Given the description of an element on the screen output the (x, y) to click on. 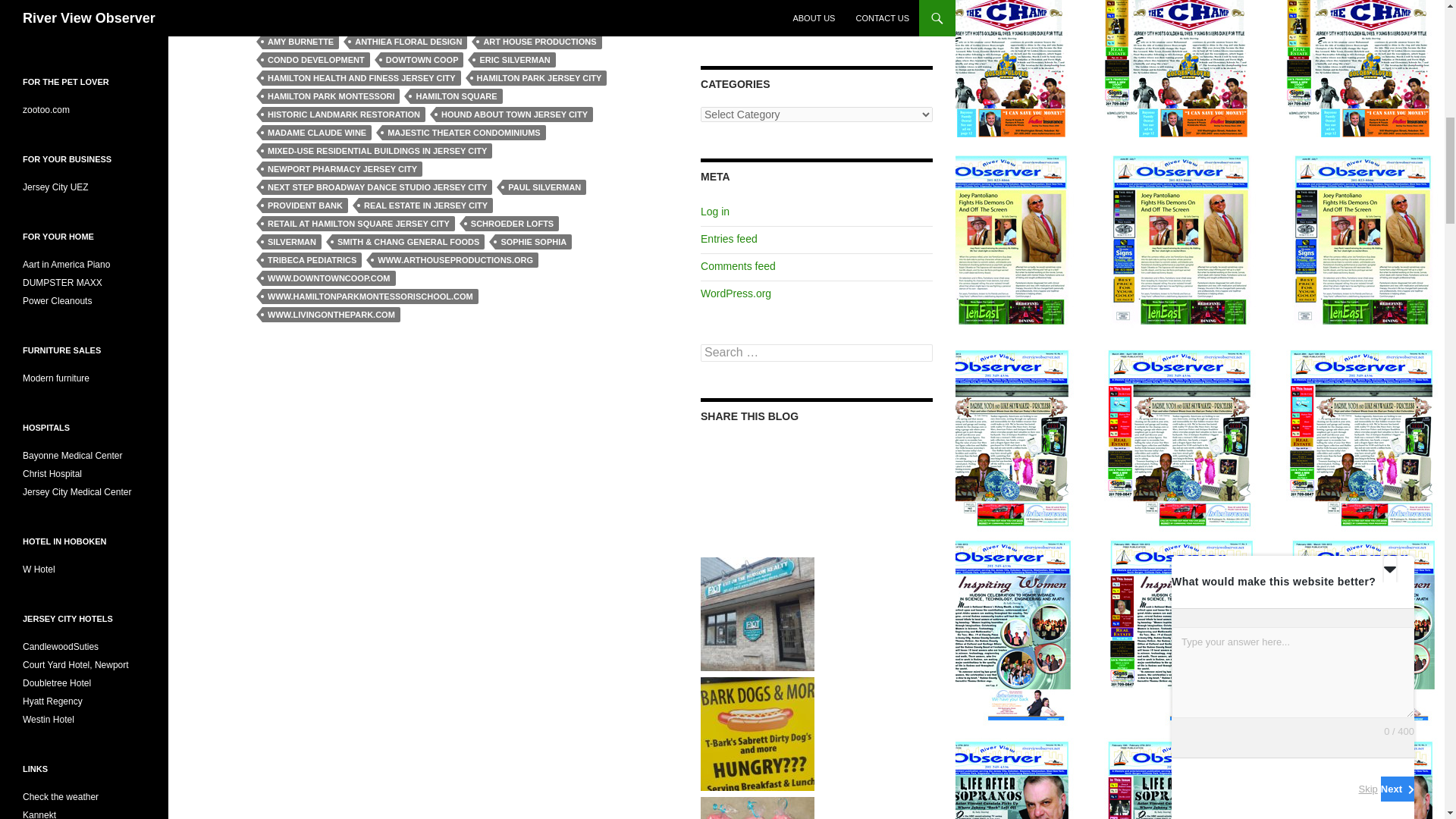
ANTHIEA FLORAL DESIGN (408, 41)
Exit On the Hudson Realty (756, 612)
AMY BURNETTE (300, 41)
Share (360, 1)
ERIC SILVERMAN (514, 59)
HISTORIC LANDMARK RESTORATION (343, 114)
Email (330, 1)
T-Barks Foods and more (756, 732)
Facebook (269, 1)
ART HOUSE PRODUCTIONS (539, 41)
CONDO DEVELOPMENT (315, 59)
Mastodon (300, 1)
DOWTOWN COOP (422, 59)
Mastodon (300, 1)
HAMILTON PARK JERSEY CITY (539, 77)
